Given the description of an element on the screen output the (x, y) to click on. 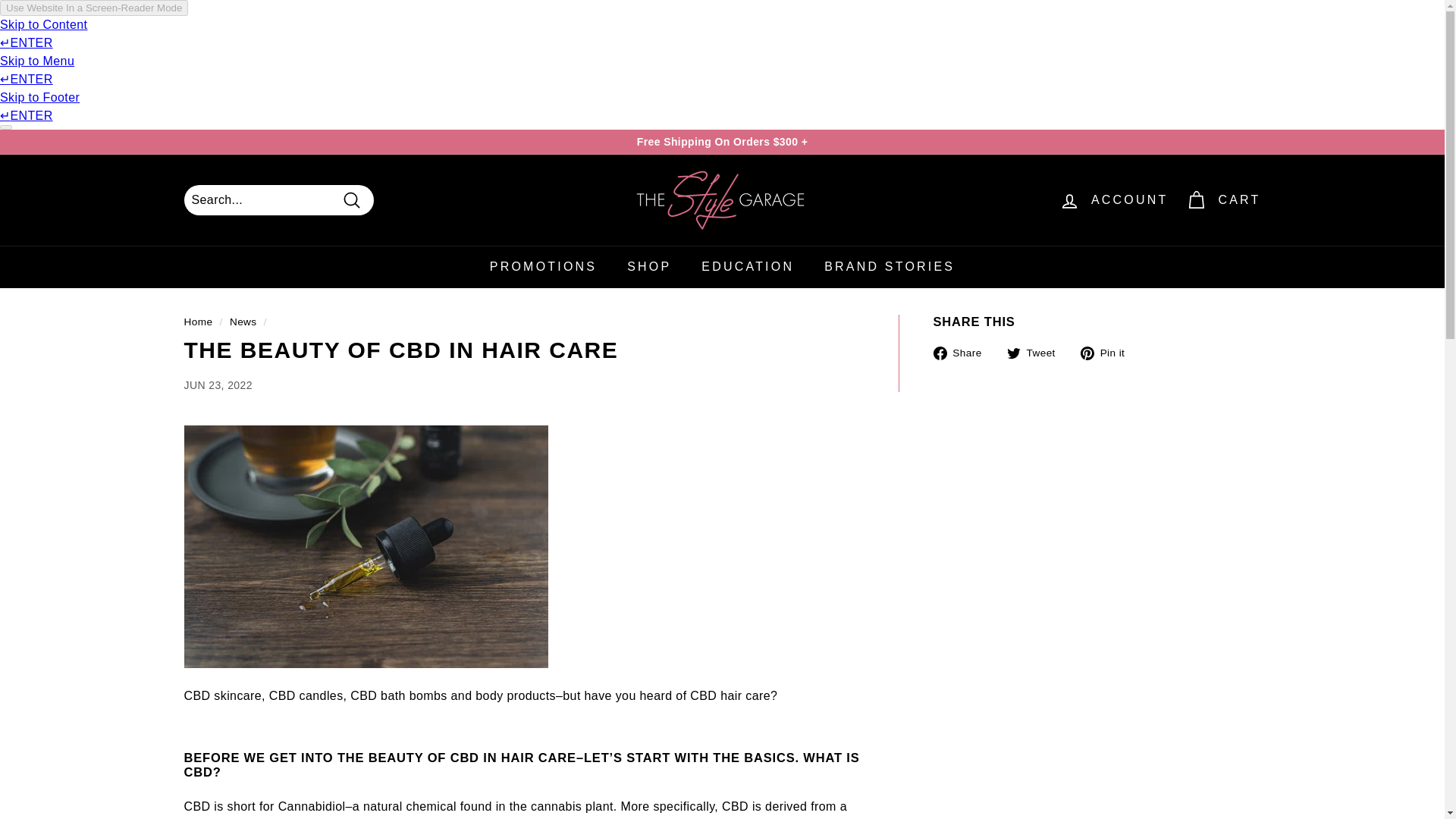
Share on Facebook (962, 352)
ACCOUNT (1113, 199)
SHOP (648, 266)
Tweet on Twitter (1037, 352)
PROMOTIONS (542, 266)
Pin on Pinterest (1107, 352)
Back to the frontpage (197, 321)
